Given the description of an element on the screen output the (x, y) to click on. 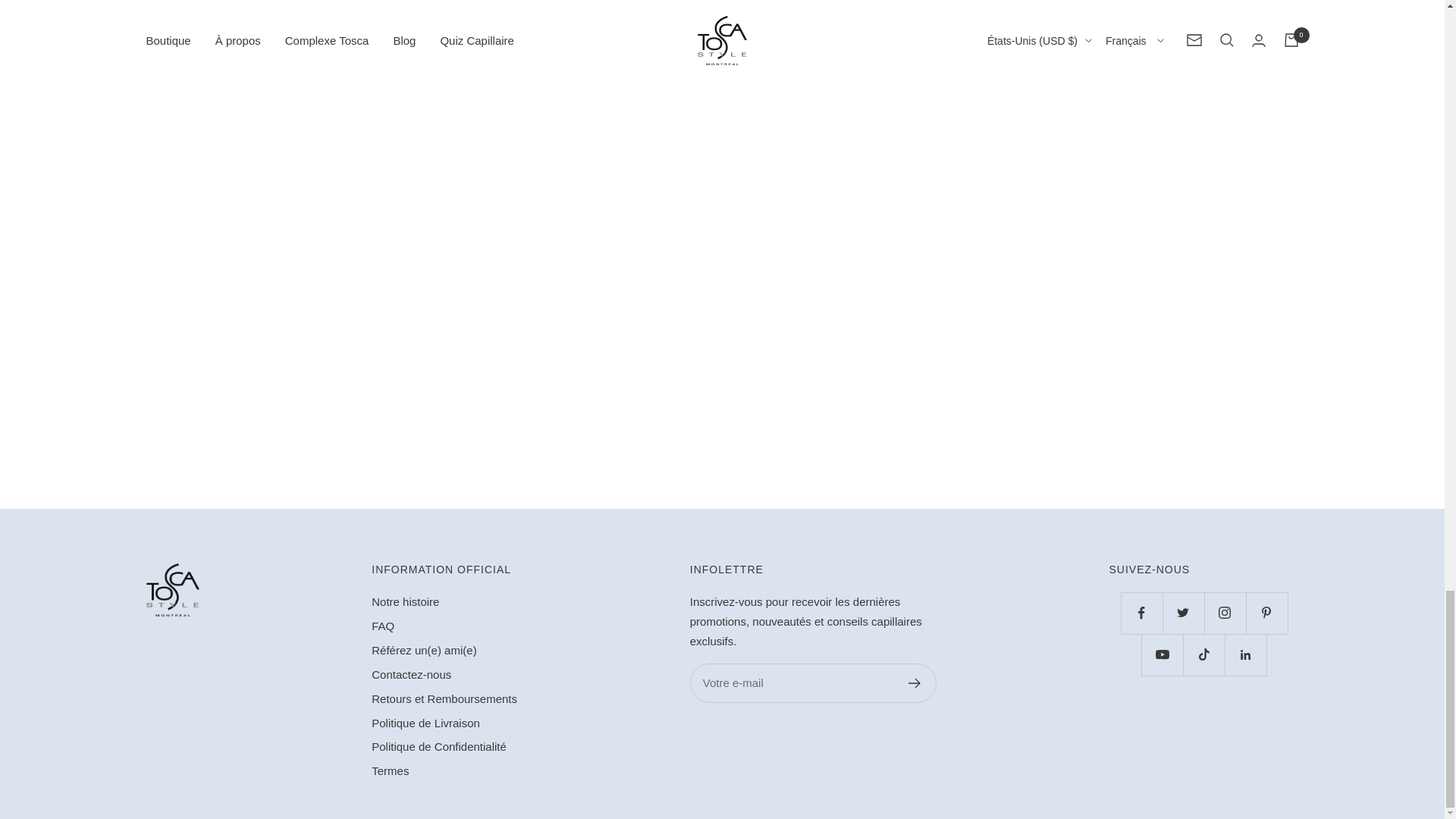
S'inscrire (914, 683)
